Given the description of an element on the screen output the (x, y) to click on. 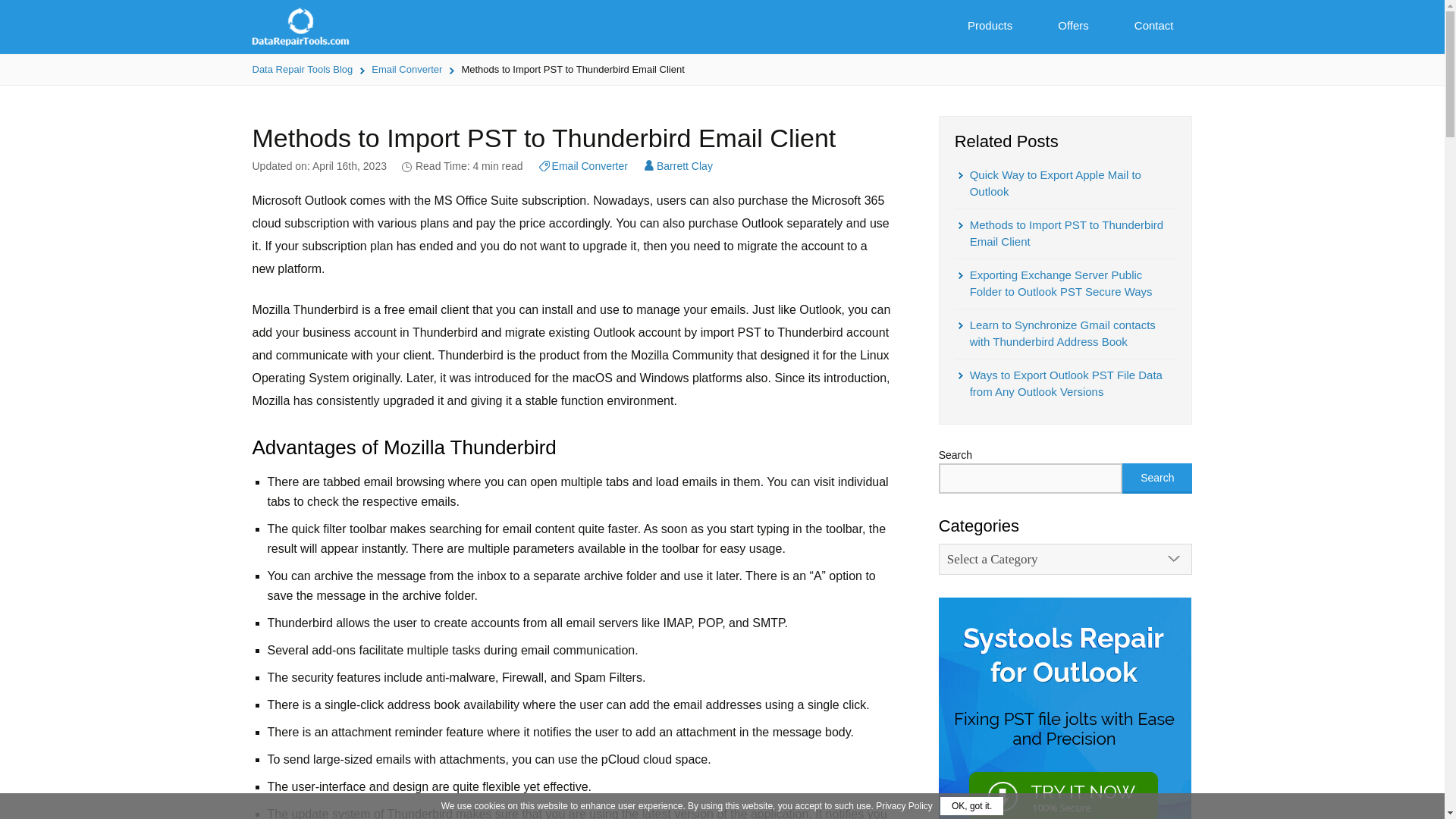
Products (989, 26)
Contact (1154, 26)
Search (1157, 477)
Methods to Import PST to Thunderbird Email Client (1065, 233)
Privacy Policy (904, 805)
OK, got it. (971, 805)
Quick Way to Export Apple Mail to Outlook (1065, 183)
Email Converter (582, 165)
Data Repair Tools Blog (301, 69)
View all posts by Barrett Clay (678, 165)
Offers (1072, 26)
Email Converter (406, 69)
Barrett Clay (678, 165)
